Given the description of an element on the screen output the (x, y) to click on. 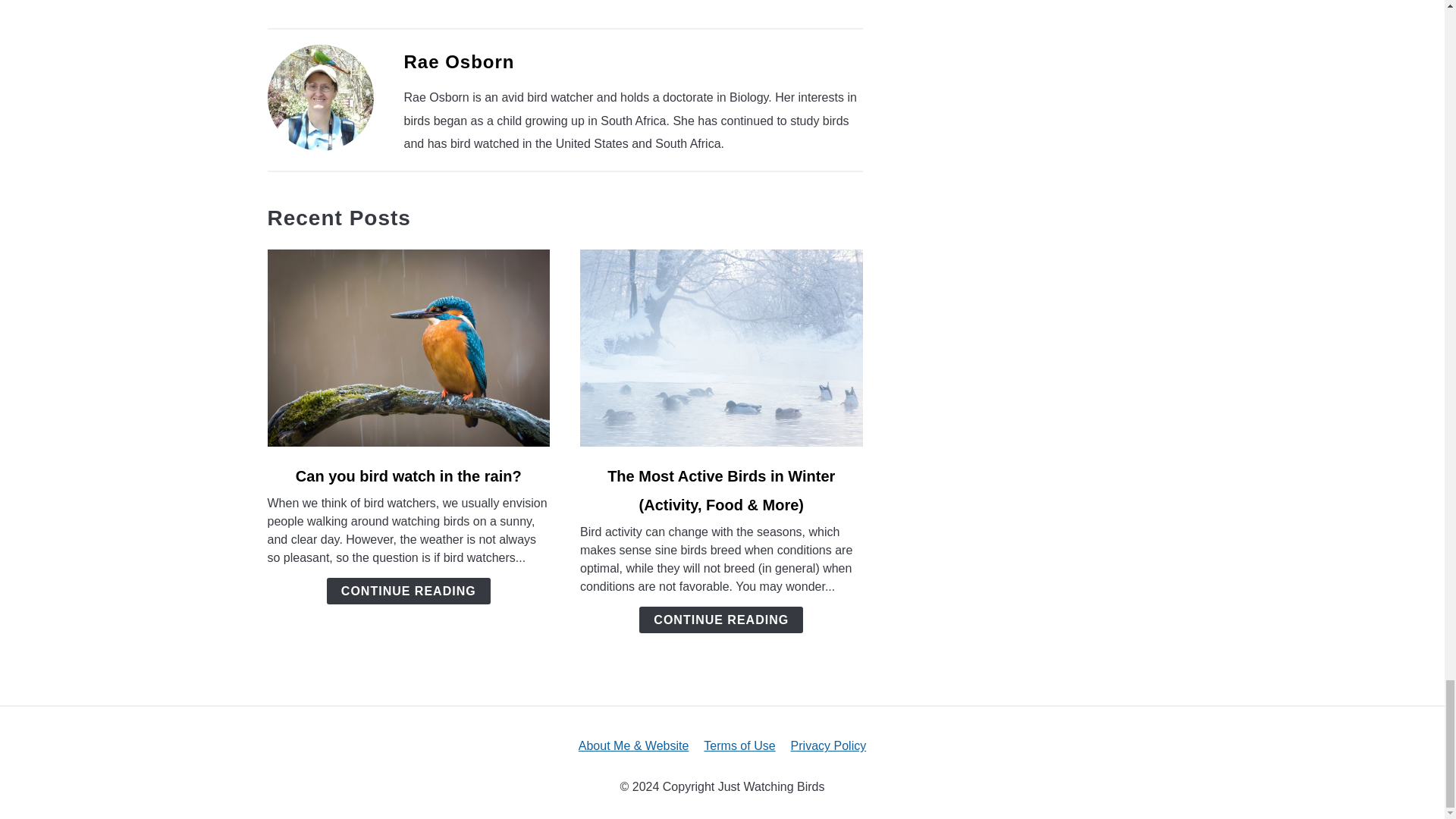
CONTINUE READING (721, 619)
Privacy Policy (828, 745)
link to Can you bird watch in the rain? (408, 347)
CONTINUE READING (408, 591)
Terms of Use (738, 745)
Can you bird watch in the rain? (408, 475)
Rae Osborn (458, 61)
